Given the description of an element on the screen output the (x, y) to click on. 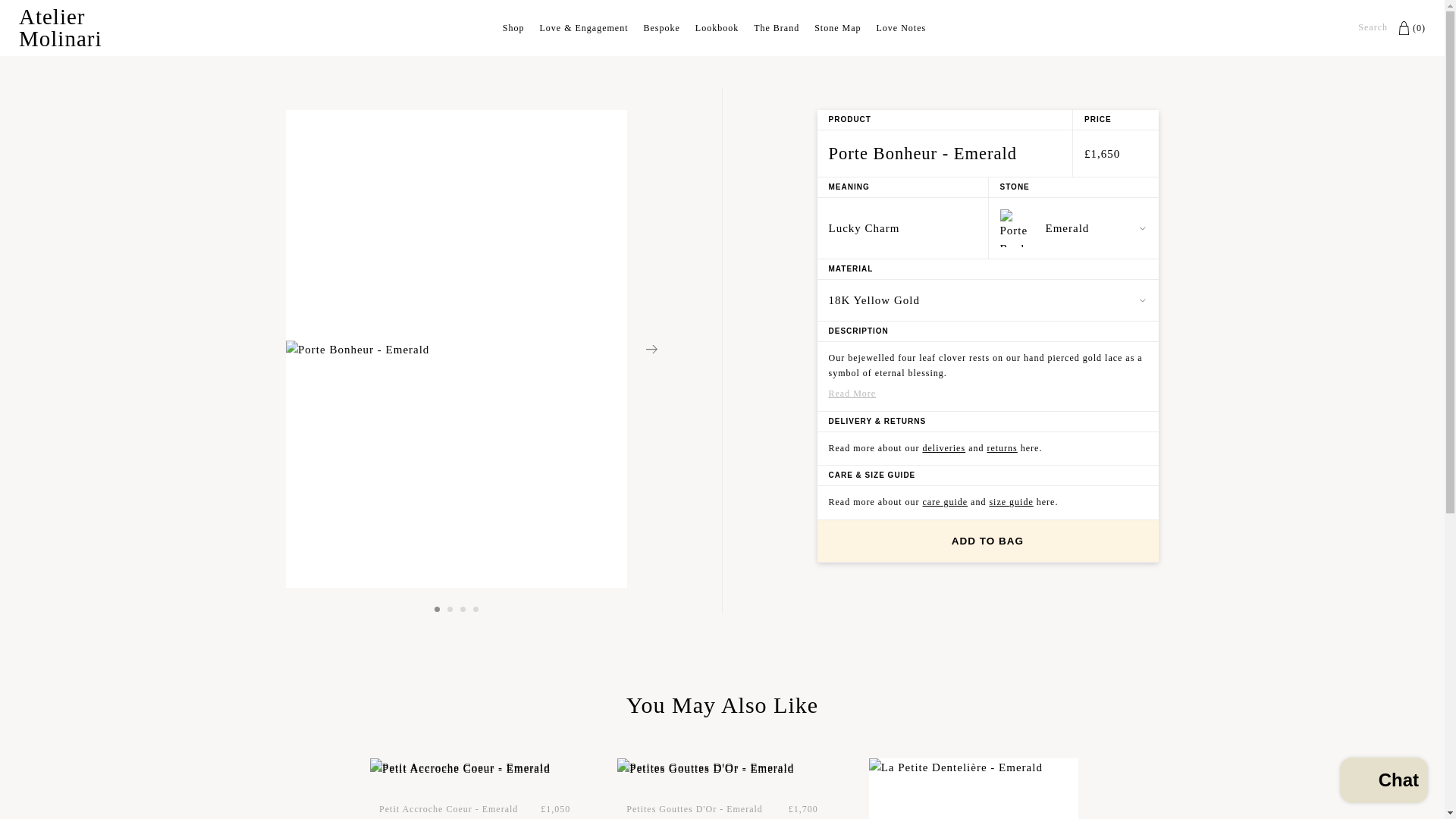
Atelier Molinari (94, 27)
The Brand (776, 27)
Bespoke (661, 27)
Shop (513, 27)
Lookbook (716, 27)
Atelier Molinari (94, 27)
